Given the description of an element on the screen output the (x, y) to click on. 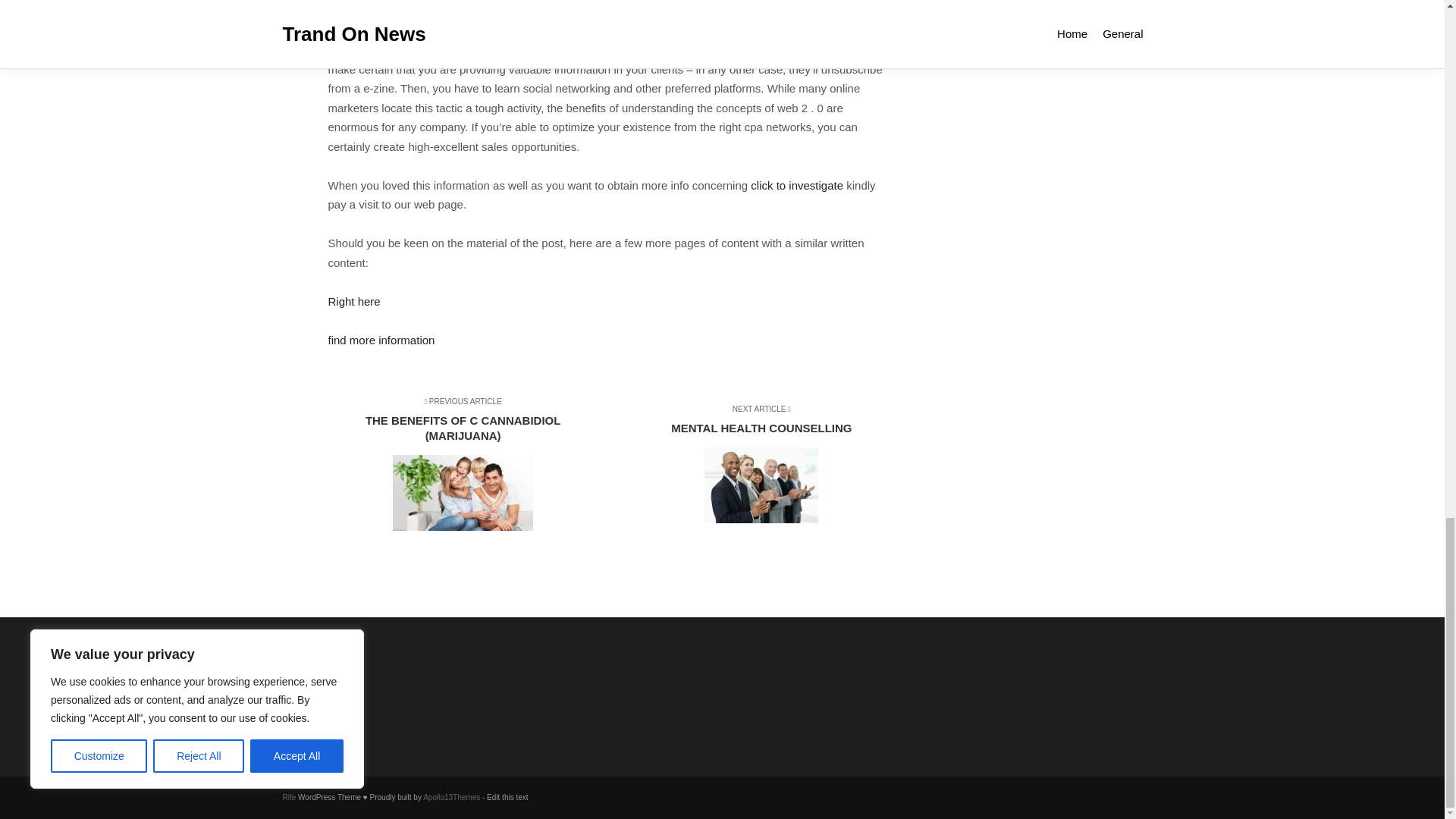
Privacy Policy (754, 465)
About (360, 721)
Rife (360, 683)
Right here (288, 797)
click to investigate (353, 300)
find more information (797, 185)
Contact (380, 339)
